Given the description of an element on the screen output the (x, y) to click on. 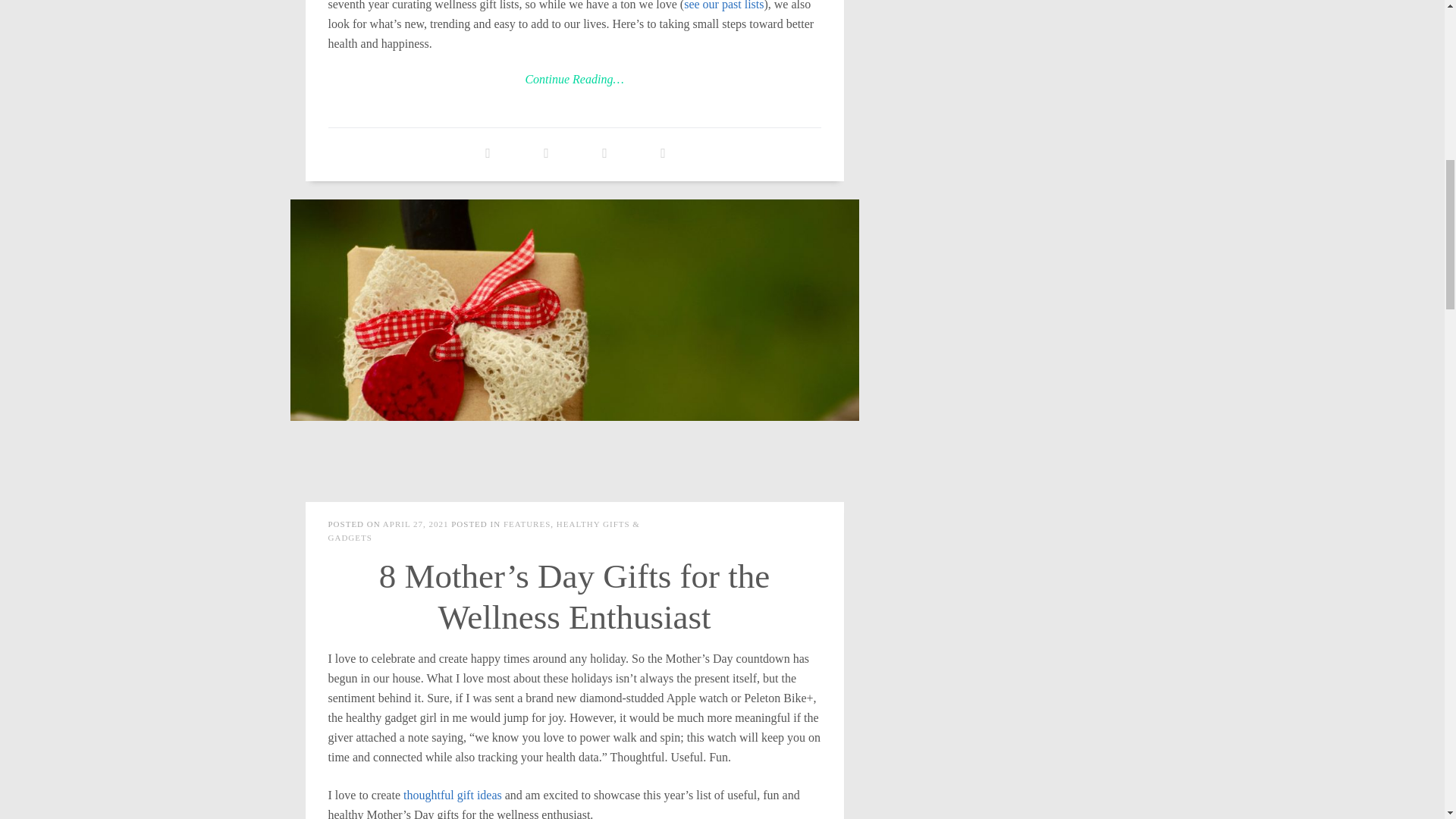
Facebook Share (488, 152)
FEATURES (526, 523)
APRIL 27, 2021 (415, 523)
Pinterest Share (662, 152)
thoughtful gift ideas (452, 794)
Twitter Share (546, 152)
see our past lists (723, 5)
